Given the description of an element on the screen output the (x, y) to click on. 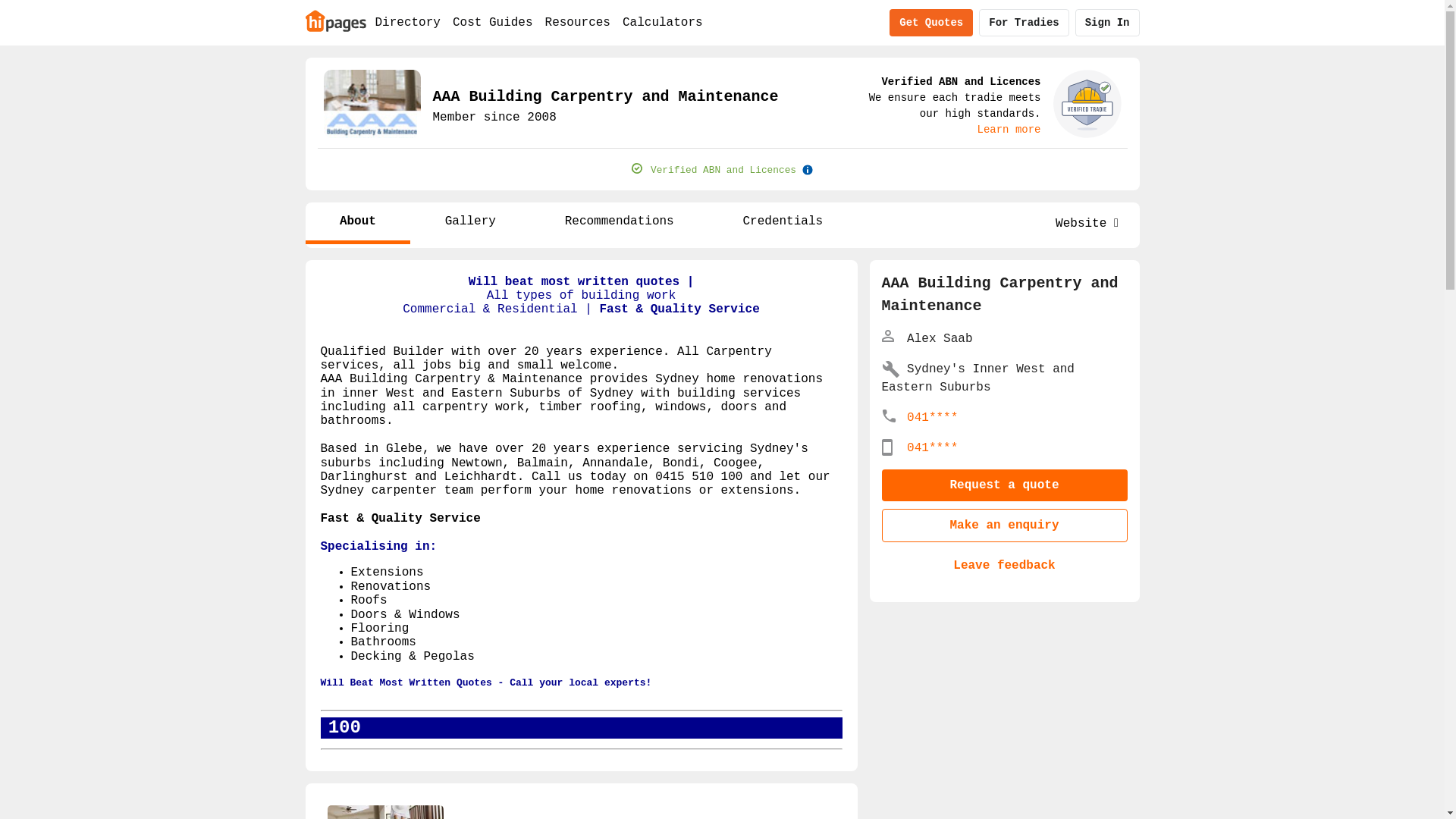
Home Element type: hover (334, 20)
Make an enquiry Element type: text (1003, 525)
041**** Element type: text (931, 448)
Gallery Element type: text (470, 223)
For Tradies Element type: text (1023, 22)
For Tradies Element type: text (1023, 22)
Credentials Element type: text (782, 223)
Resources Element type: text (577, 22)
Calculators Element type: text (662, 22)
Directory Element type: text (406, 22)
Leave feedback Element type: text (1003, 565)
About Element type: text (357, 223)
041**** Element type: text (931, 417)
Cost Guides Element type: text (492, 22)
Recommendations Element type: text (619, 223)
Sign In Element type: text (1107, 22)
Request a quote Element type: text (1003, 485)
Learn more Element type: text (1008, 130)
Get Quotes Element type: text (930, 22)
